Given the description of an element on the screen output the (x, y) to click on. 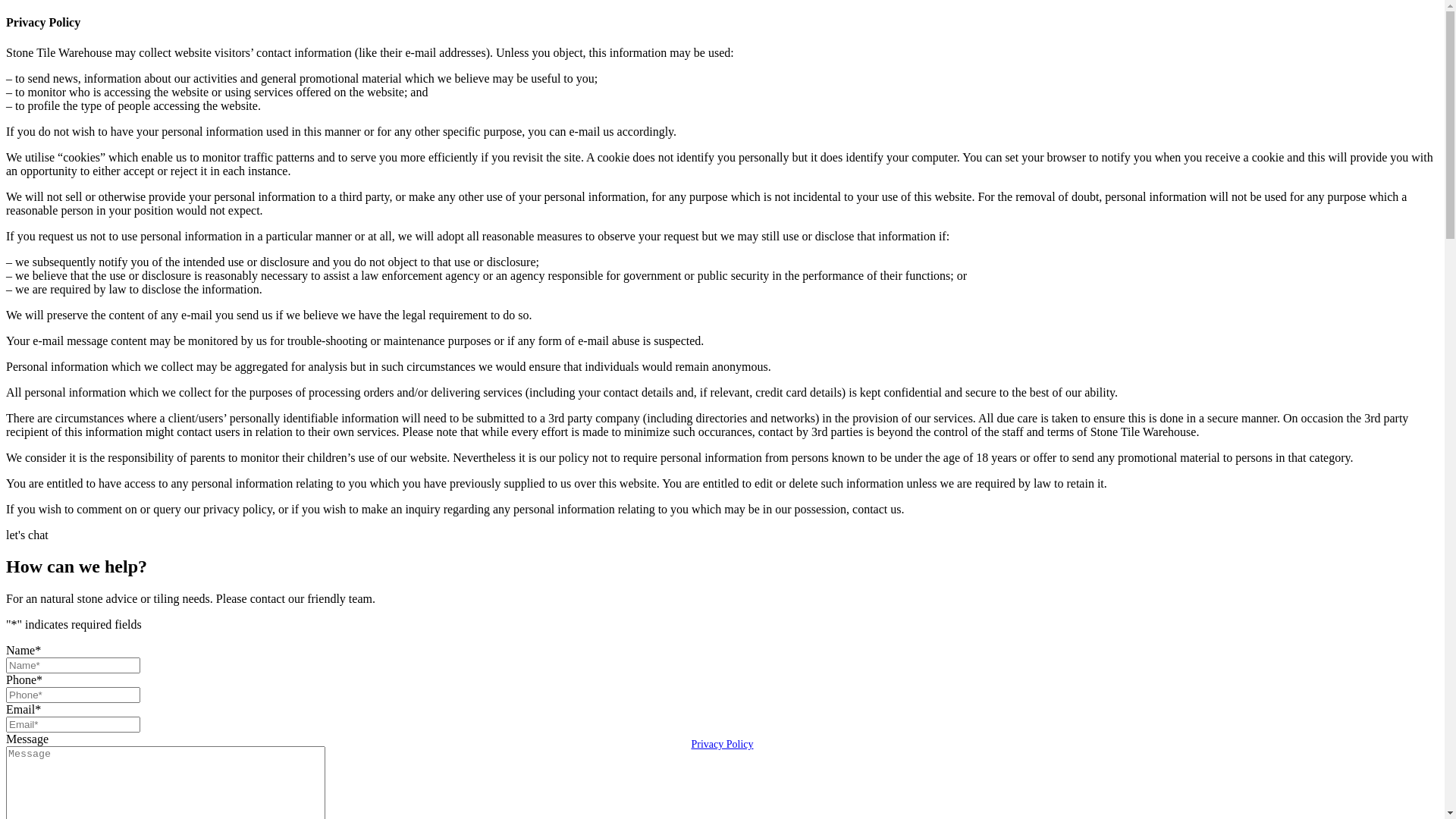
Privacy Policy Element type: text (721, 743)
